Given the description of an element on the screen output the (x, y) to click on. 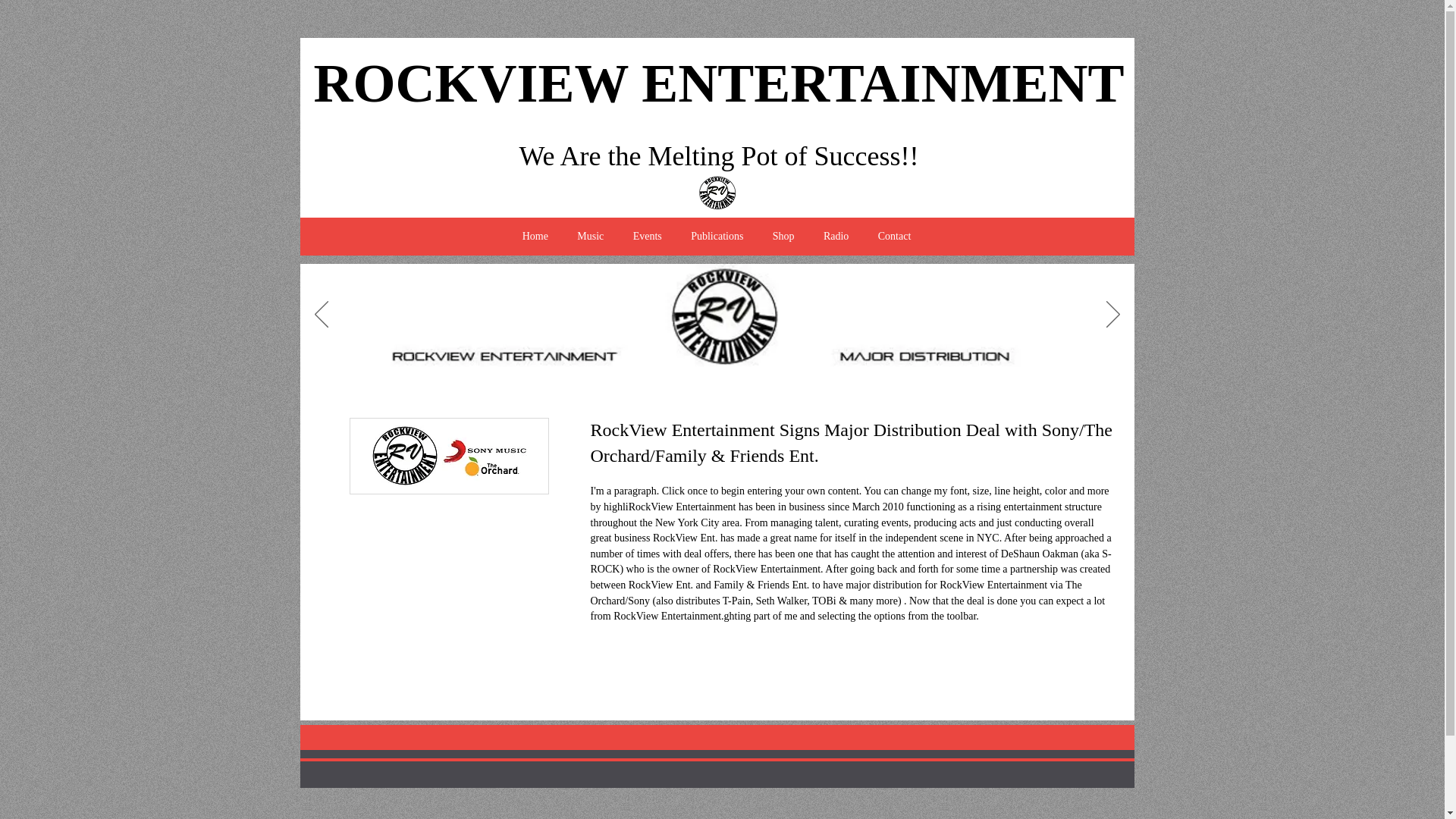
Events (646, 236)
Contact (894, 236)
Shop (783, 236)
Radio (836, 236)
Publications (717, 236)
Music (589, 236)
Home (535, 236)
